Given the description of an element on the screen output the (x, y) to click on. 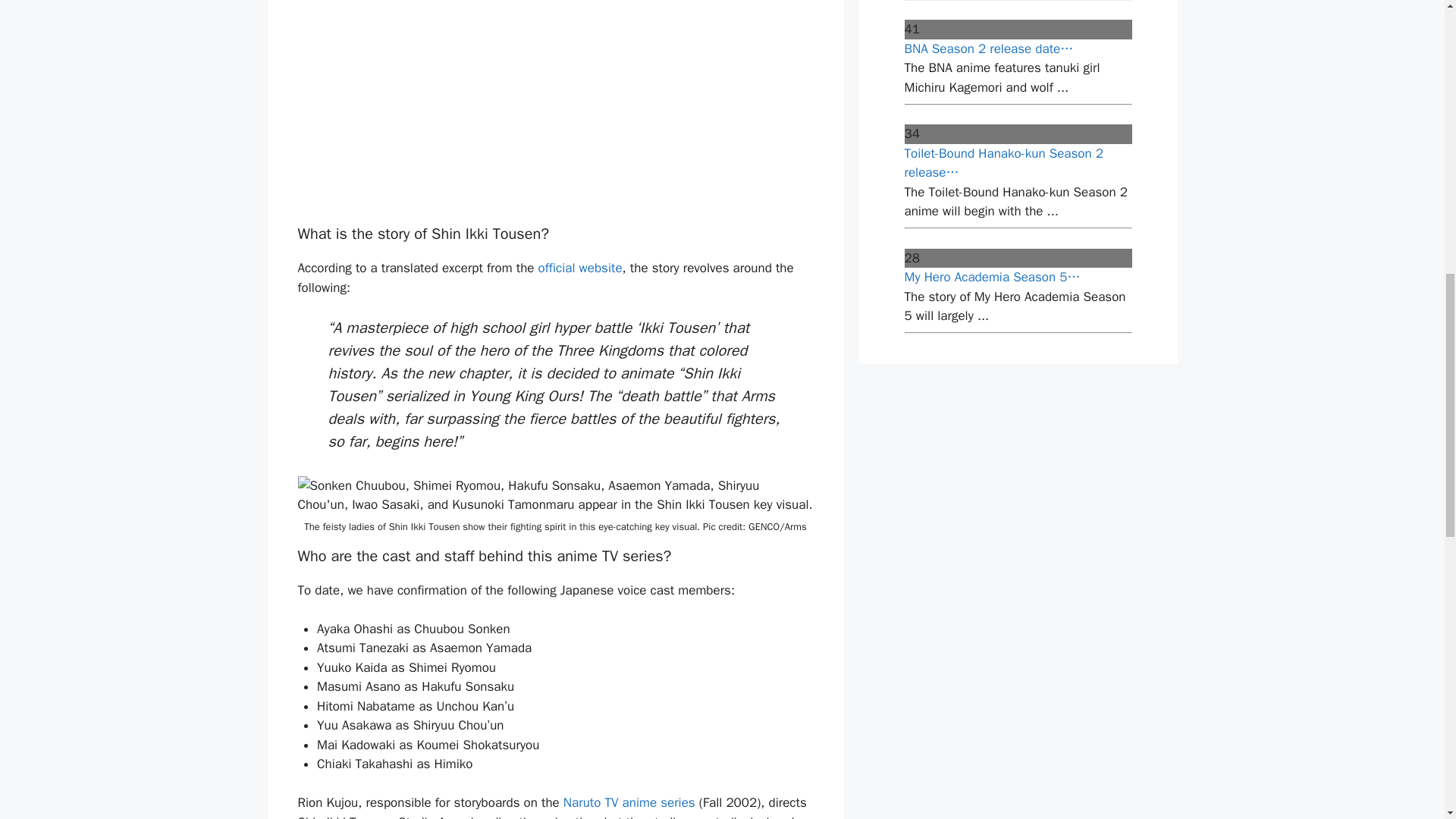
official website (580, 268)
Naruto TV anime series (629, 802)
